Given the description of an element on the screen output the (x, y) to click on. 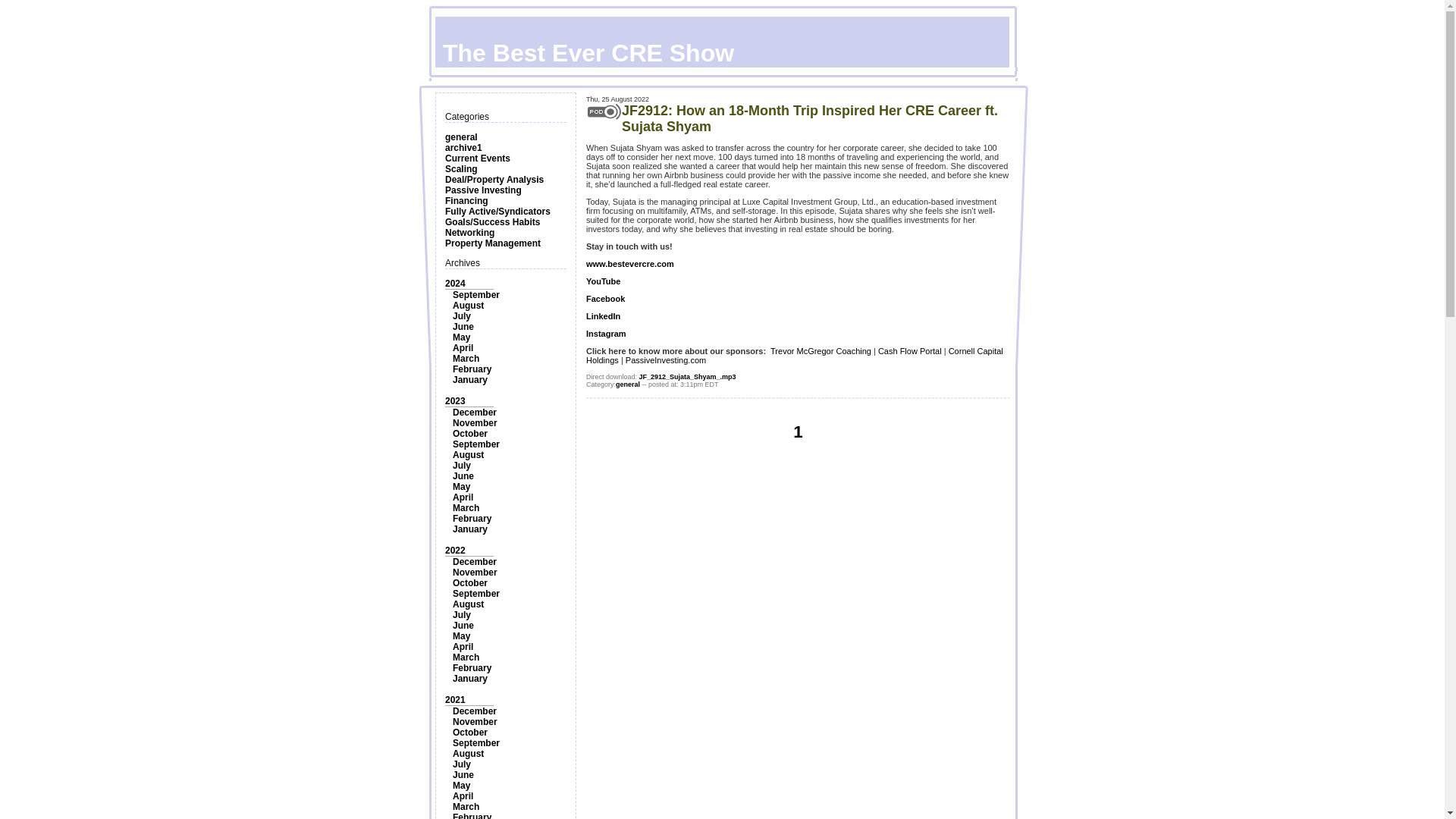
May (461, 486)
March (465, 357)
February (472, 518)
November (474, 422)
Networking (470, 232)
January (469, 379)
January (469, 529)
May (461, 337)
December (474, 412)
2023 (455, 400)
